Given the description of an element on the screen output the (x, y) to click on. 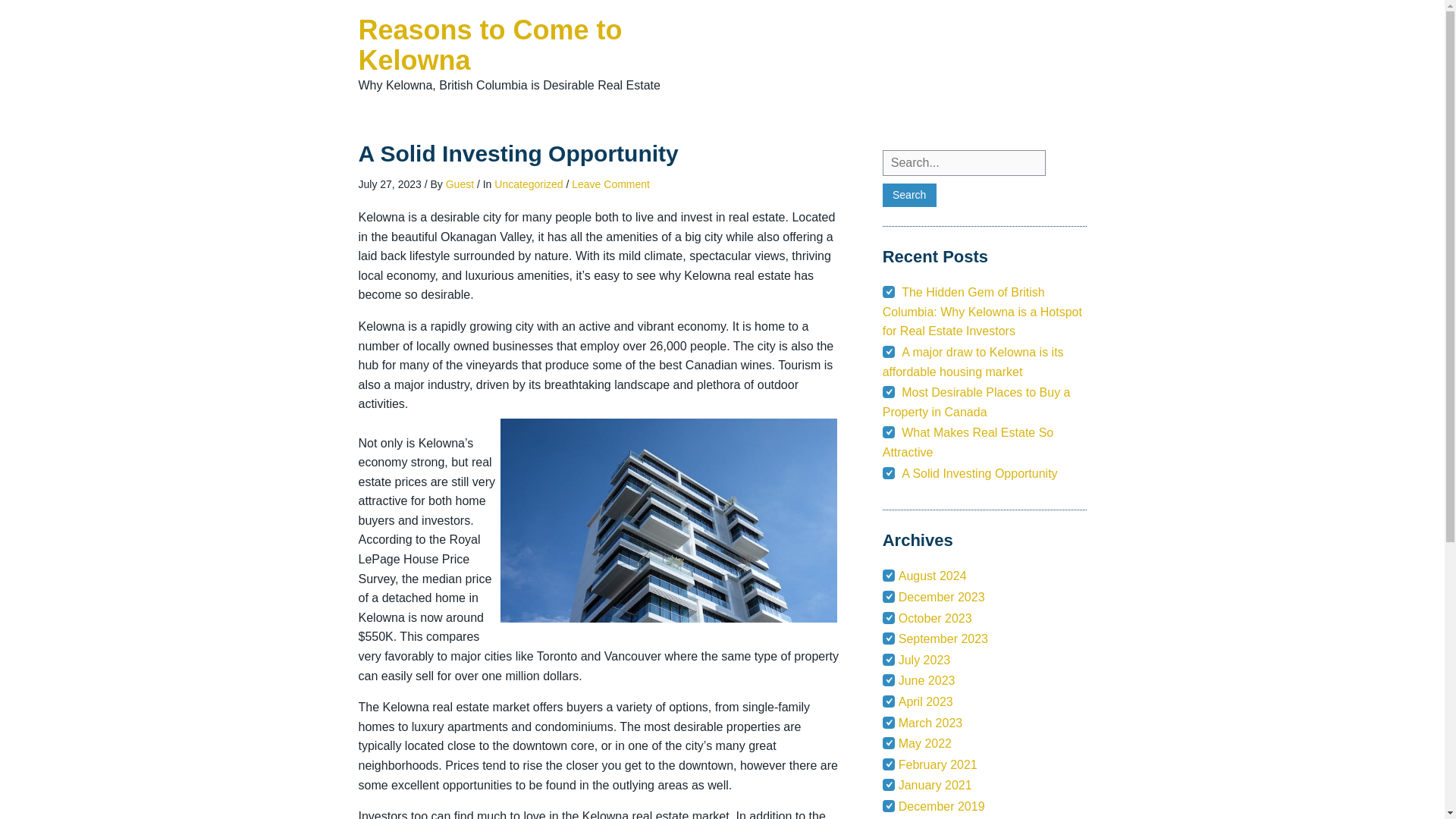
June 2023 (926, 680)
May 2022 (925, 743)
August 2024 (932, 575)
What Makes Real Estate So Attractive (968, 441)
Uncategorized (528, 184)
Most Desirable Places to Buy a Property in Canada (976, 401)
Reasons to Come to Kelowna (489, 45)
February 2021 (937, 764)
September 2023 (943, 638)
Posts by Guest (459, 184)
